Given the description of an element on the screen output the (x, y) to click on. 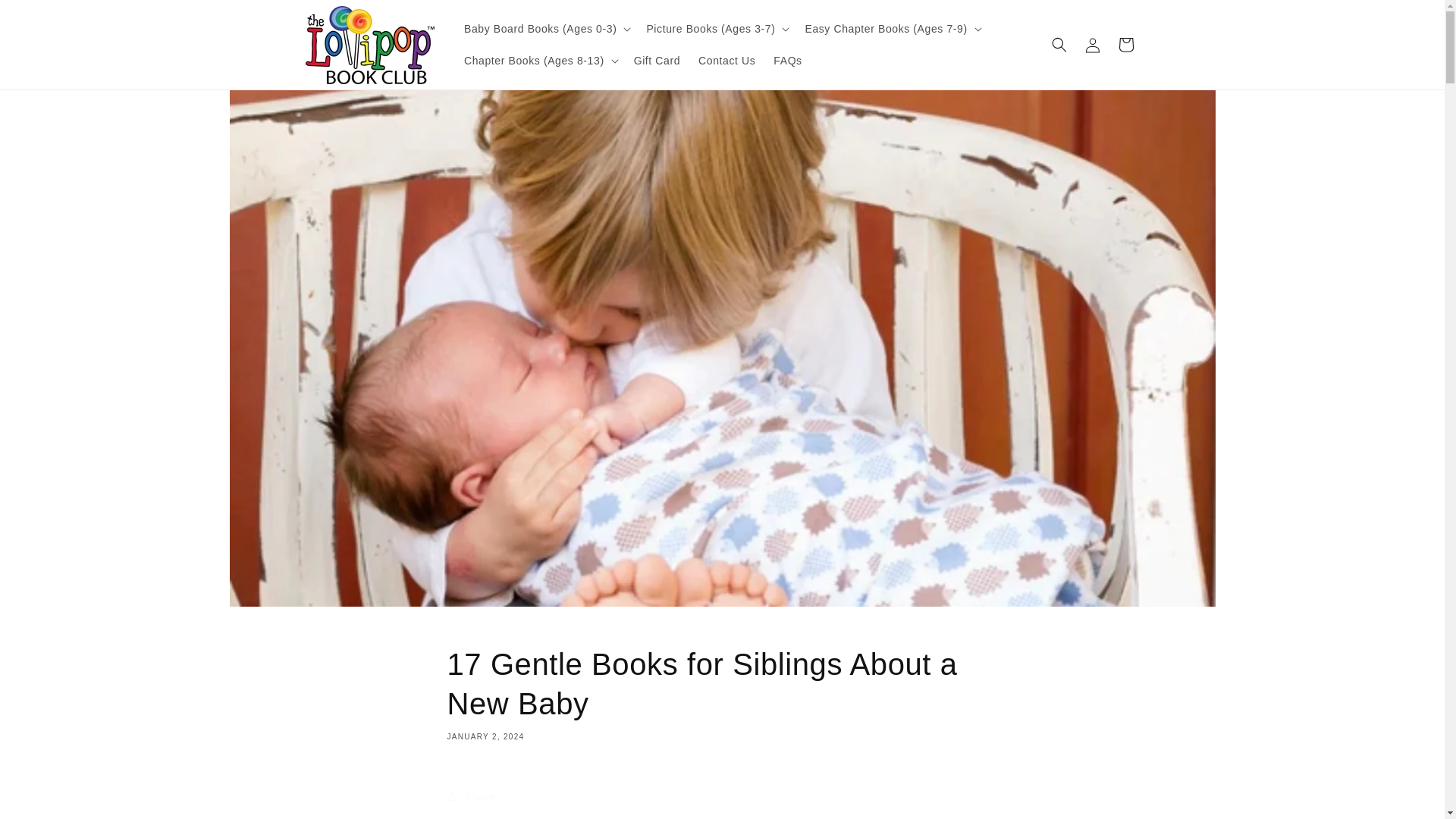
Skip to content (45, 17)
Share (721, 796)
